Given the description of an element on the screen output the (x, y) to click on. 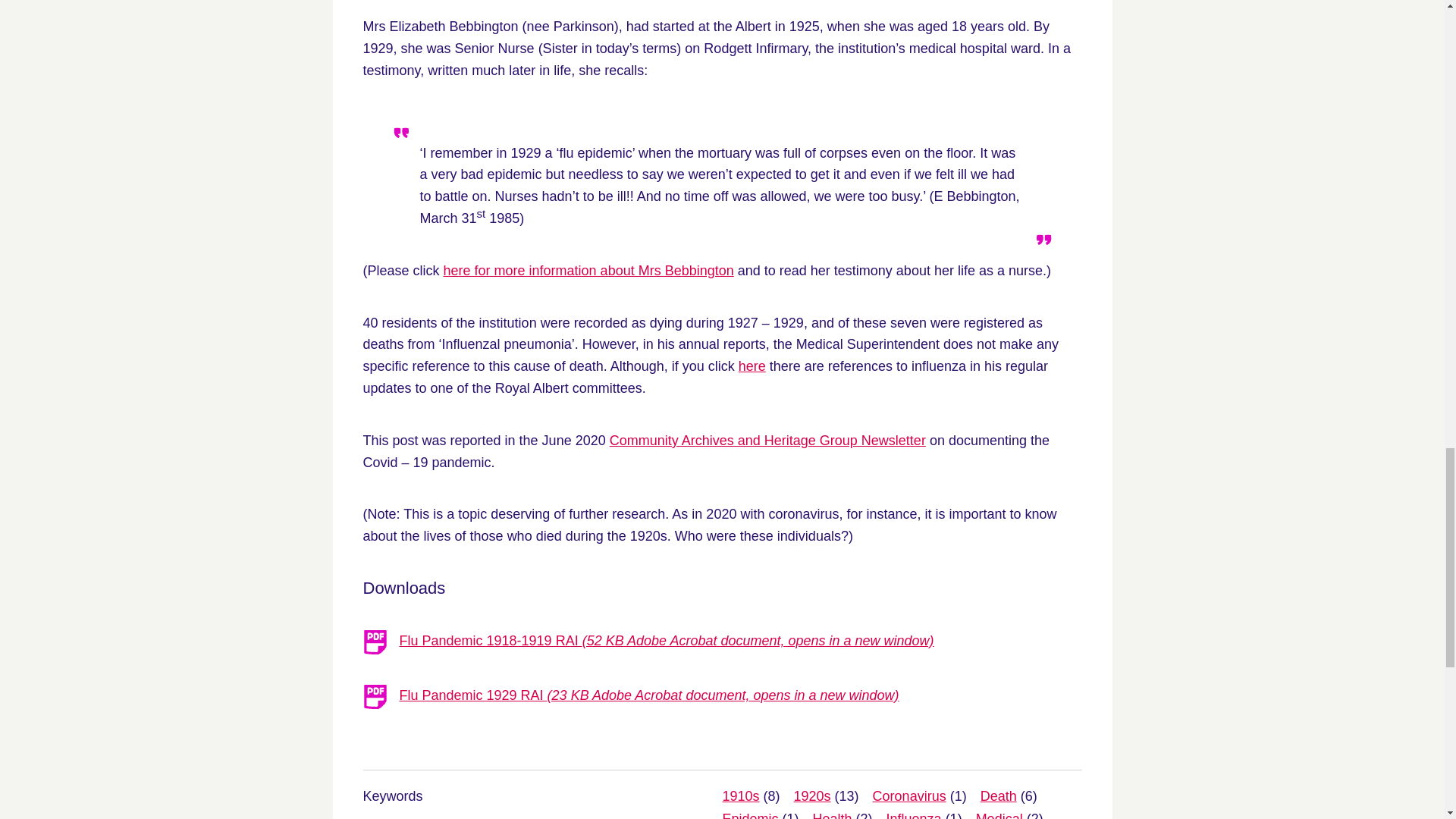
1910s (740, 795)
Community Archives and Heritage Group Newsletter (768, 440)
Death (997, 795)
1920s (812, 795)
Health (831, 815)
Coronavirus (909, 795)
here (751, 365)
Influenza (914, 815)
Epidemic (749, 815)
Medical (999, 815)
here for more information about Mrs Bebbington (588, 270)
